Given the description of an element on the screen output the (x, y) to click on. 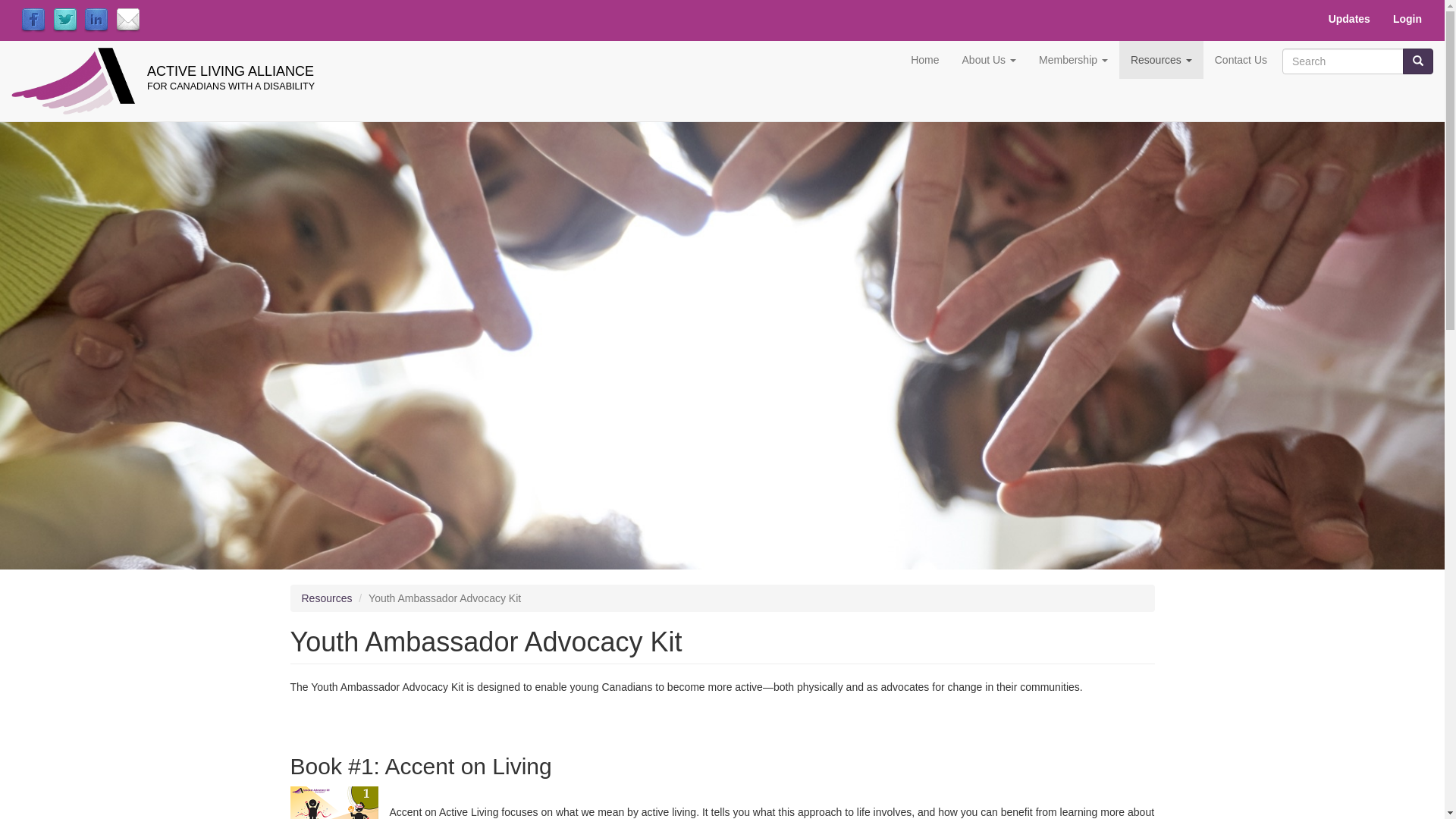
ACTIVE LIVING ALLIANCE
FOR CANADIANS WITH A DISABILITY Element type: text (242, 63)
Membership Element type: text (1073, 59)
Facebook Element type: hover (33, 19)
About Us Element type: text (988, 59)
Home Element type: text (924, 59)
Updates Element type: text (1349, 18)
Home Element type: hover (84, 81)
Enter the terms you wish to search for. Element type: hover (1342, 61)
Contact Us Element type: text (1240, 59)
Search Element type: text (1282, 74)
Skip to main content Element type: text (0, 118)
Twitter Element type: hover (65, 19)
Contact Element type: hover (128, 19)
Resources Element type: text (1161, 59)
LinkedIn Element type: hover (96, 19)
Login Element type: text (1407, 18)
Resources Element type: text (326, 598)
